Given the description of an element on the screen output the (x, y) to click on. 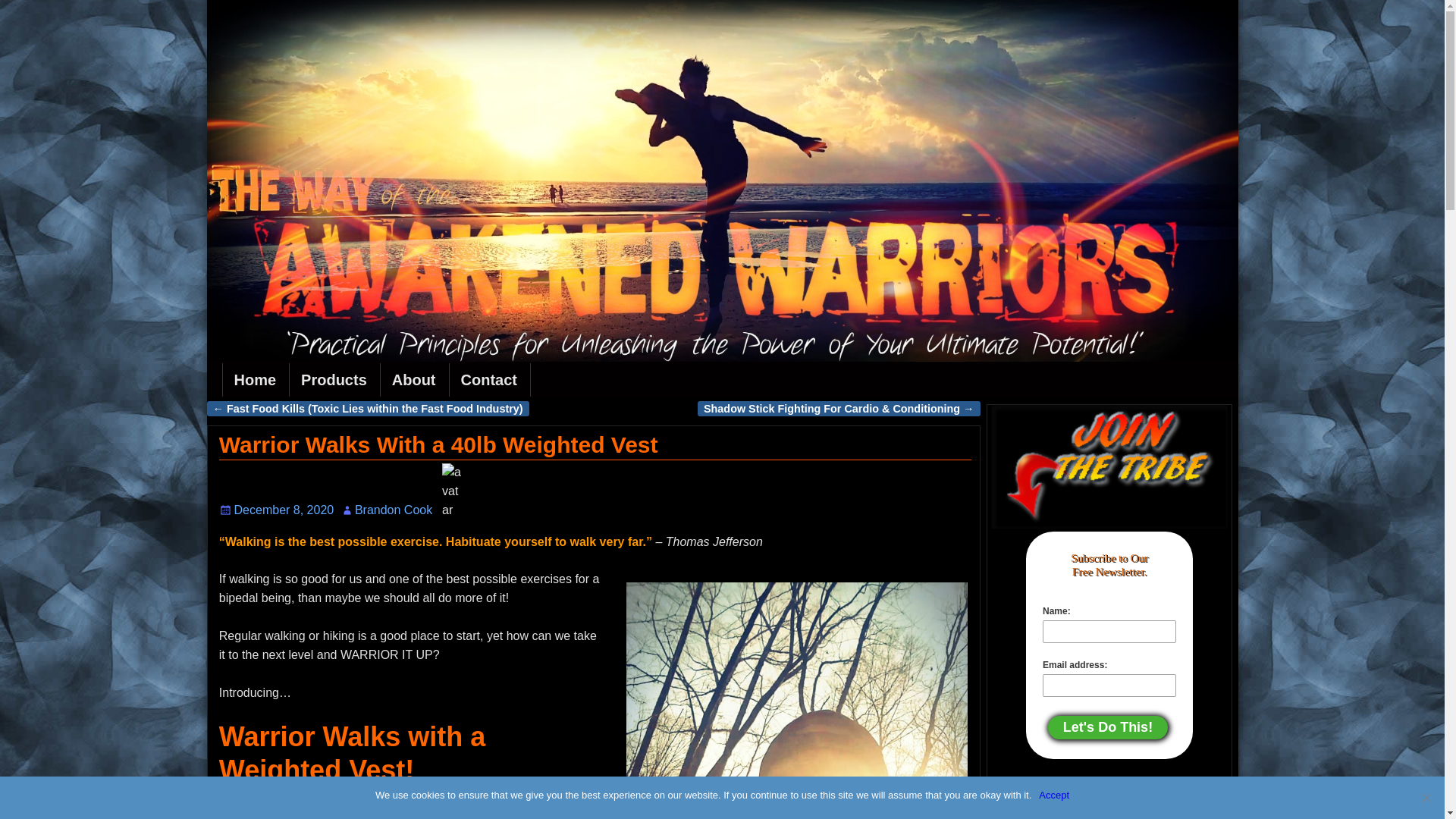
About Us (414, 379)
Contact Us (490, 379)
Contact (490, 379)
Products (334, 379)
About (414, 379)
No (1425, 797)
Awakened Warriors Home (255, 379)
Home (255, 379)
View all posts by Brandon Cook (393, 509)
December 8, 2020 (276, 509)
Products (334, 379)
12:06 am (276, 509)
Brandon Cook (393, 509)
